Given the description of an element on the screen output the (x, y) to click on. 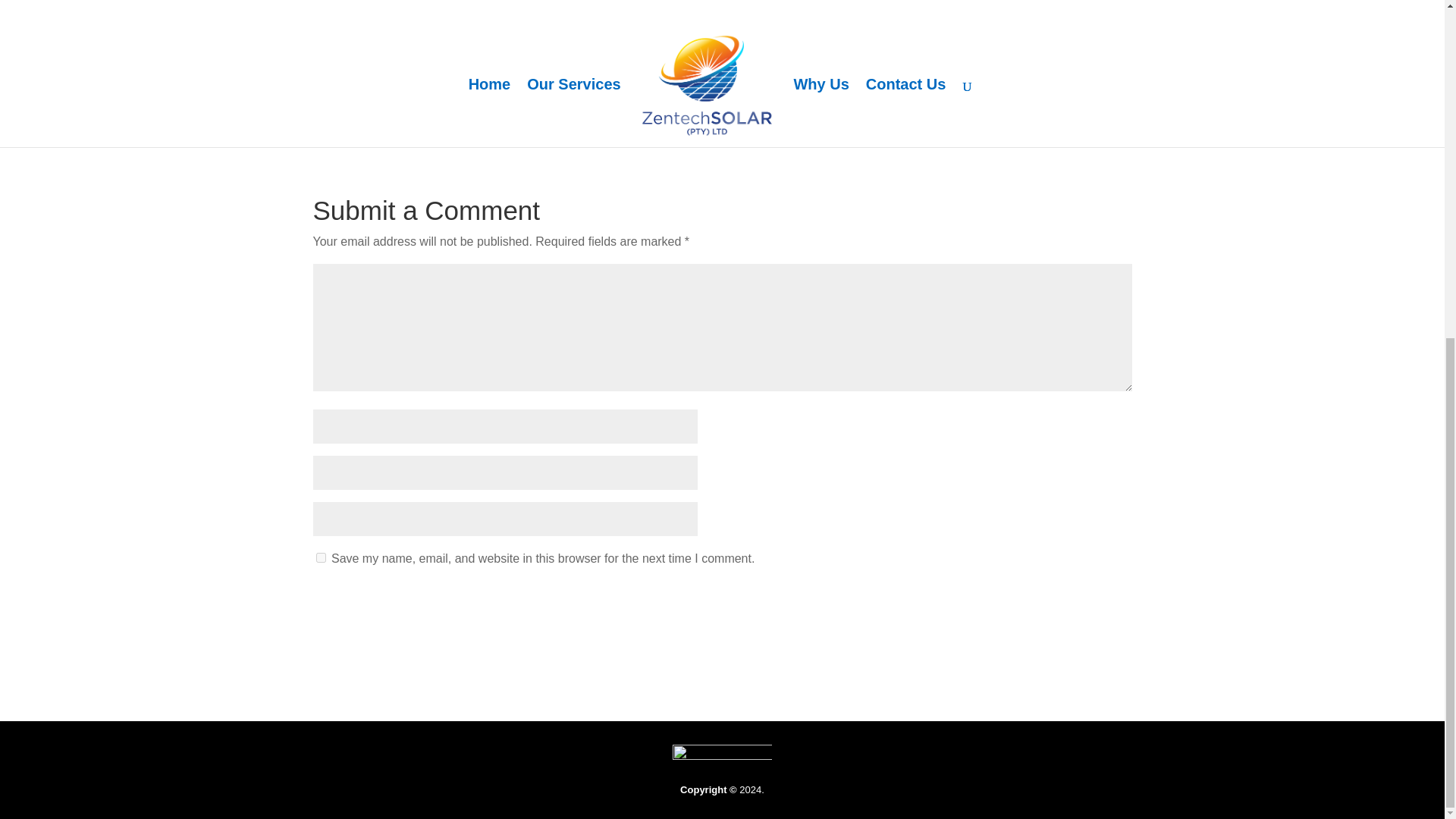
Submit Comment (1056, 599)
Submit Comment (1056, 599)
yes (319, 557)
Contact us Now! (385, 32)
